Given the description of an element on the screen output the (x, y) to click on. 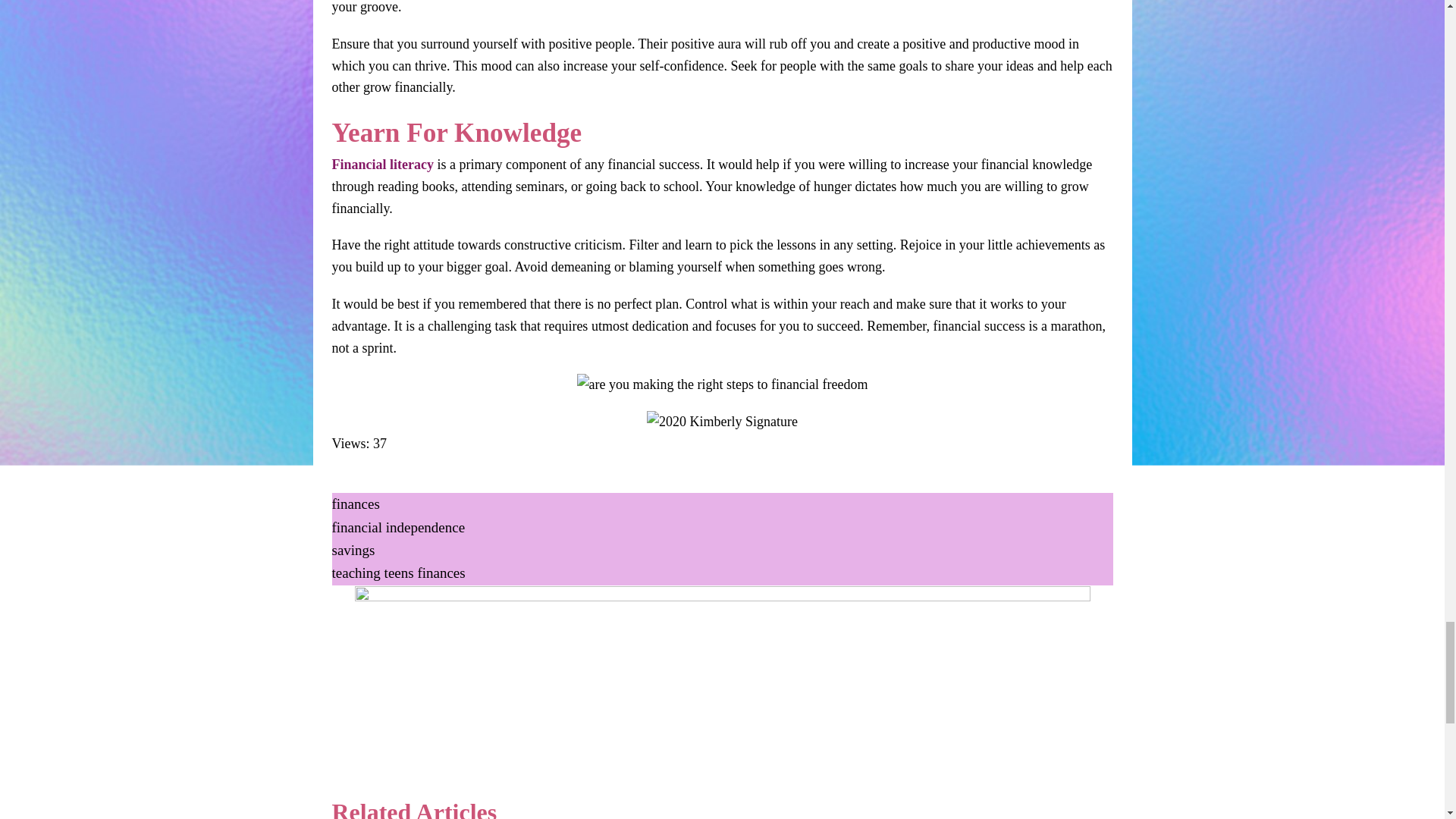
savings (353, 549)
Financial literacy (382, 164)
financial independence (398, 527)
finances (355, 503)
teaching teens finances (398, 572)
